Given the description of an element on the screen output the (x, y) to click on. 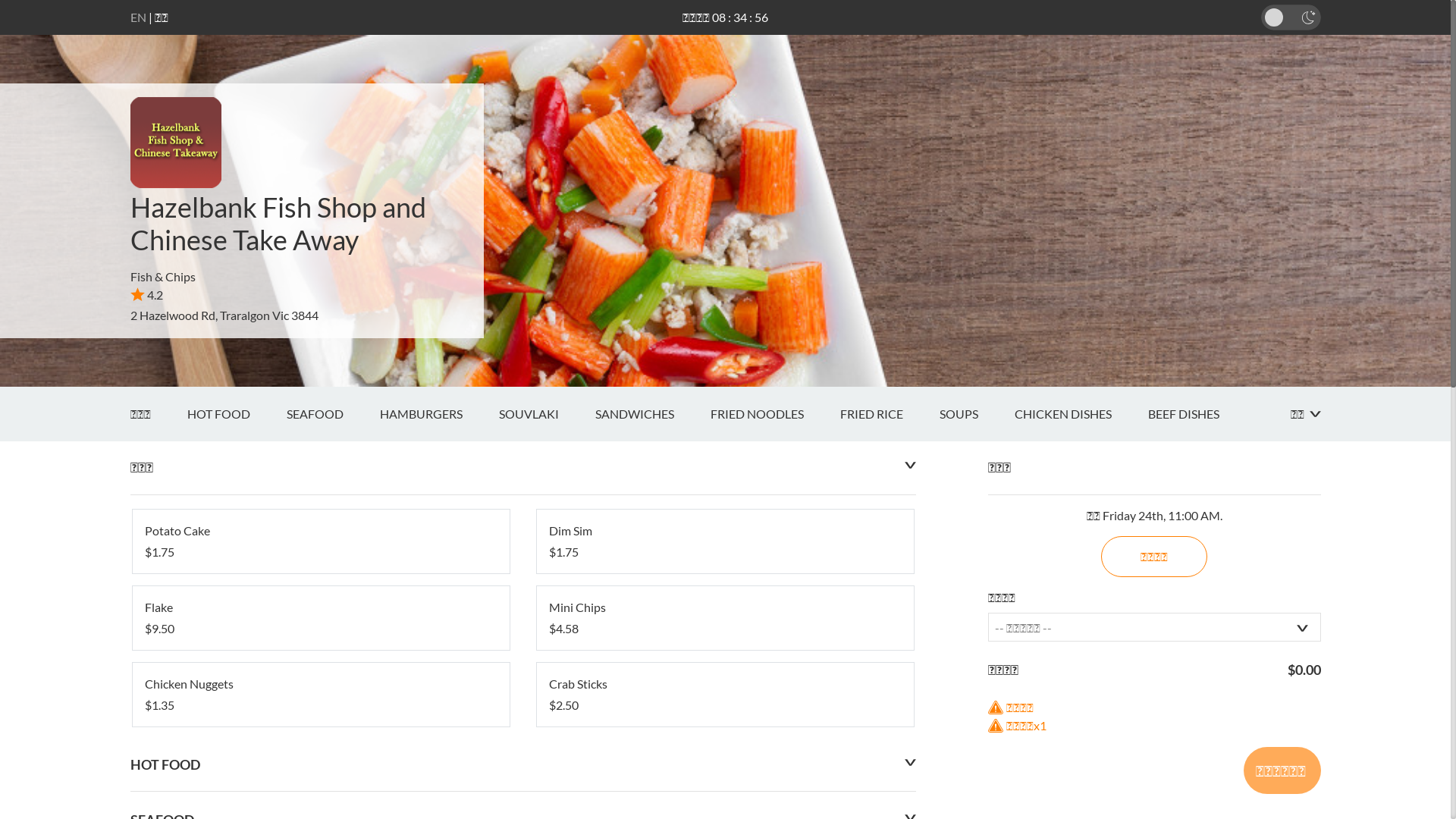
Crab Sticks
$2.50 Element type: text (725, 694)
Crab Sticks
$2.50 Element type: text (725, 694)
Hazelbank Fish Shop and Chinese Take Away Element type: text (278, 223)
Flake
$9.50 Element type: text (320, 617)
BEEF DISHES Element type: text (1201, 413)
Flake
$9.50 Element type: text (320, 617)
Potato Cake
$1.75 Element type: text (320, 541)
4.2 Element type: text (146, 294)
HAMBURGERS Element type: text (438, 413)
Potato Cake
$1.75 Element type: text (320, 541)
Dim Sim
$1.75 Element type: text (725, 541)
EN Element type: text (138, 16)
SEAFOOD Element type: text (332, 413)
CHICKEN DISHES Element type: text (1081, 413)
Dim Sim
$1.75 Element type: text (725, 541)
SOUVLAKI Element type: text (546, 413)
HOT FOOD Element type: text (235, 413)
Chicken Nuggets
$1.35 Element type: text (320, 694)
FRIED RICE Element type: text (889, 413)
Mini Chips
$4.58 Element type: text (725, 617)
SANDWICHES Element type: text (651, 413)
Mini Chips
$4.58 Element type: text (725, 617)
Chicken Nuggets
$1.35 Element type: text (320, 694)
SOUPS Element type: text (975, 413)
FRIED NOODLES Element type: text (774, 413)
